Given the description of an element on the screen output the (x, y) to click on. 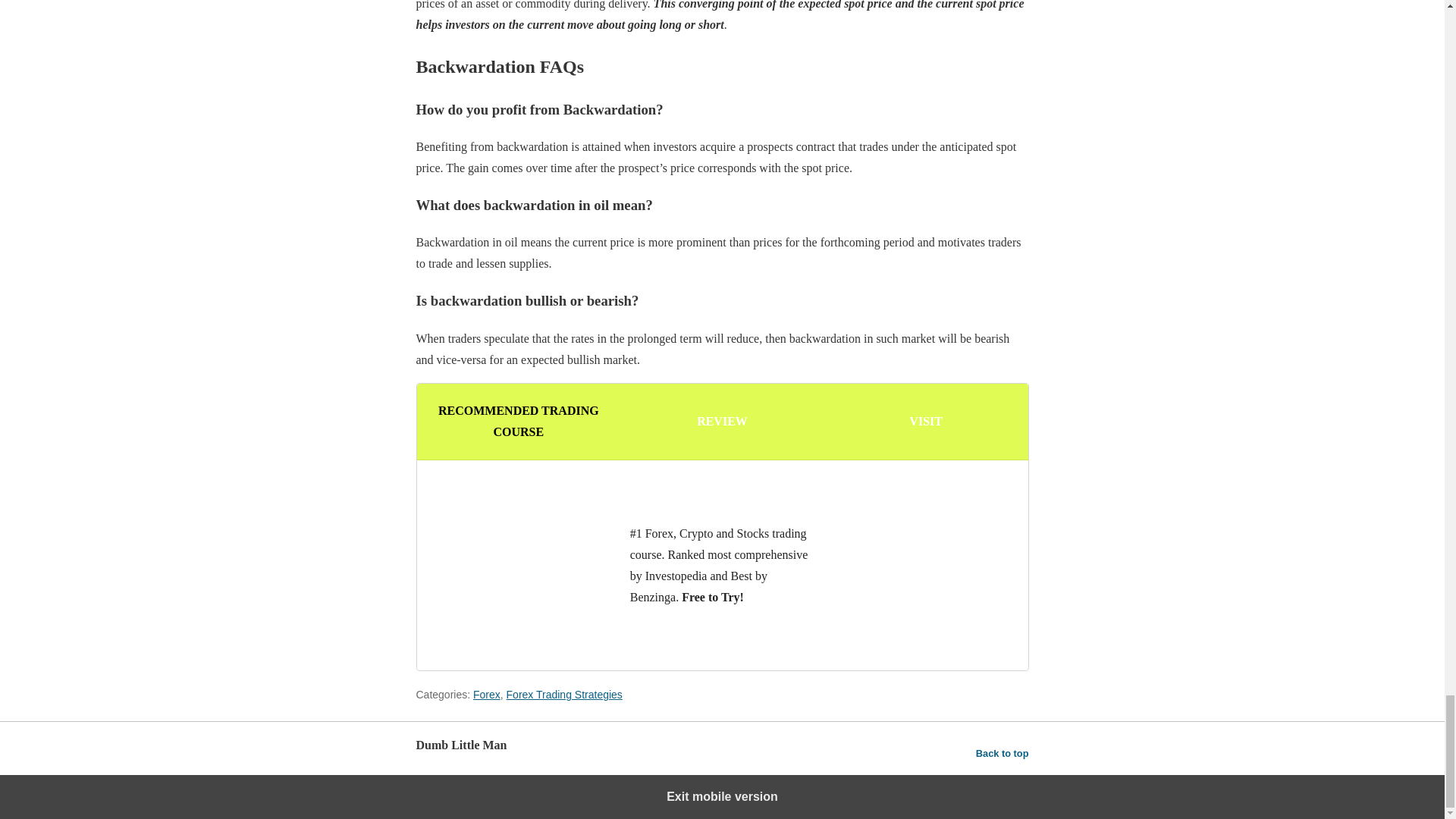
Back to top (1002, 753)
Forex (486, 694)
Forex Trading Strategies (564, 694)
